Given the description of an element on the screen output the (x, y) to click on. 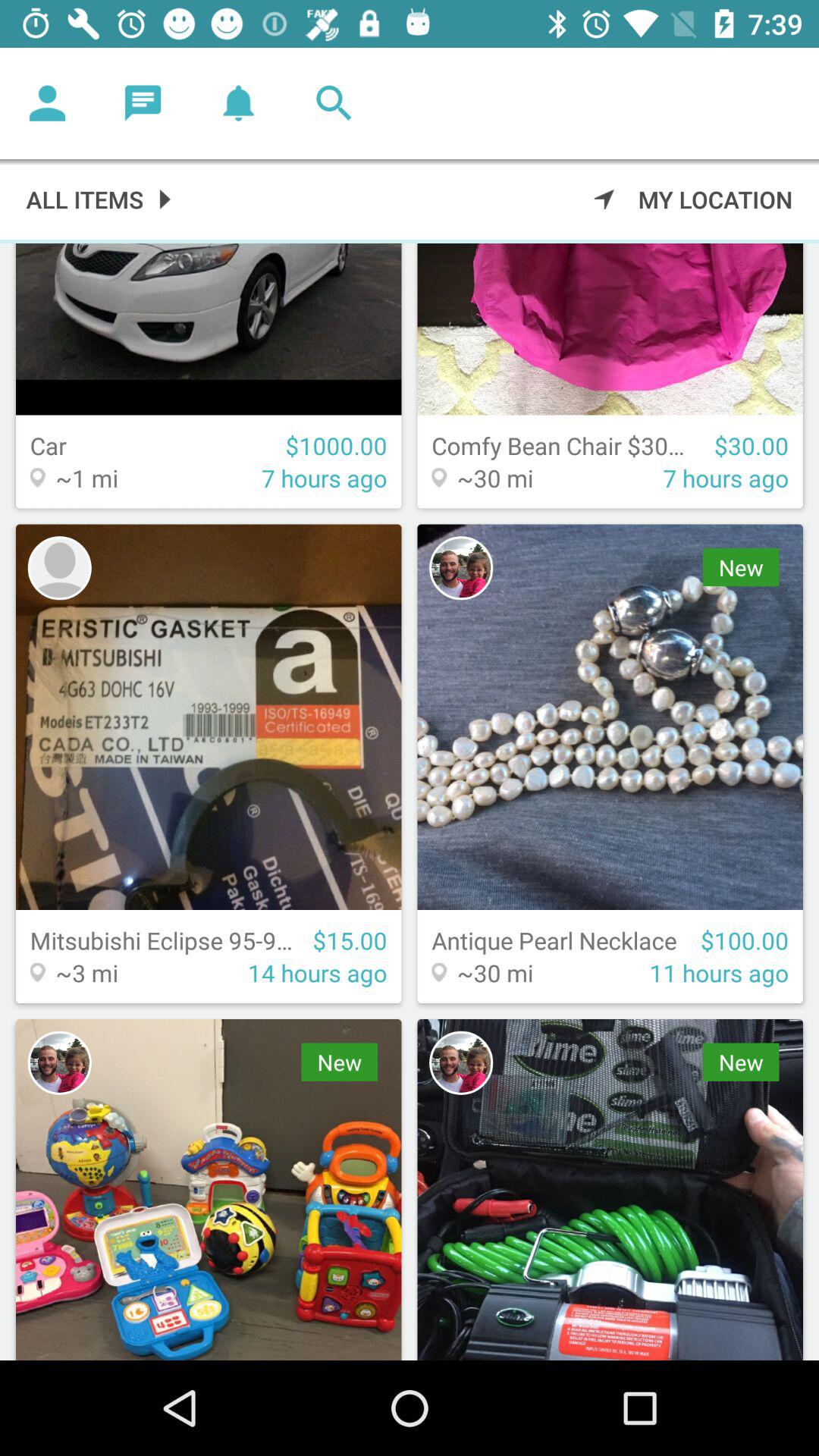
go to poster 's personal page (461, 568)
